Given the description of an element on the screen output the (x, y) to click on. 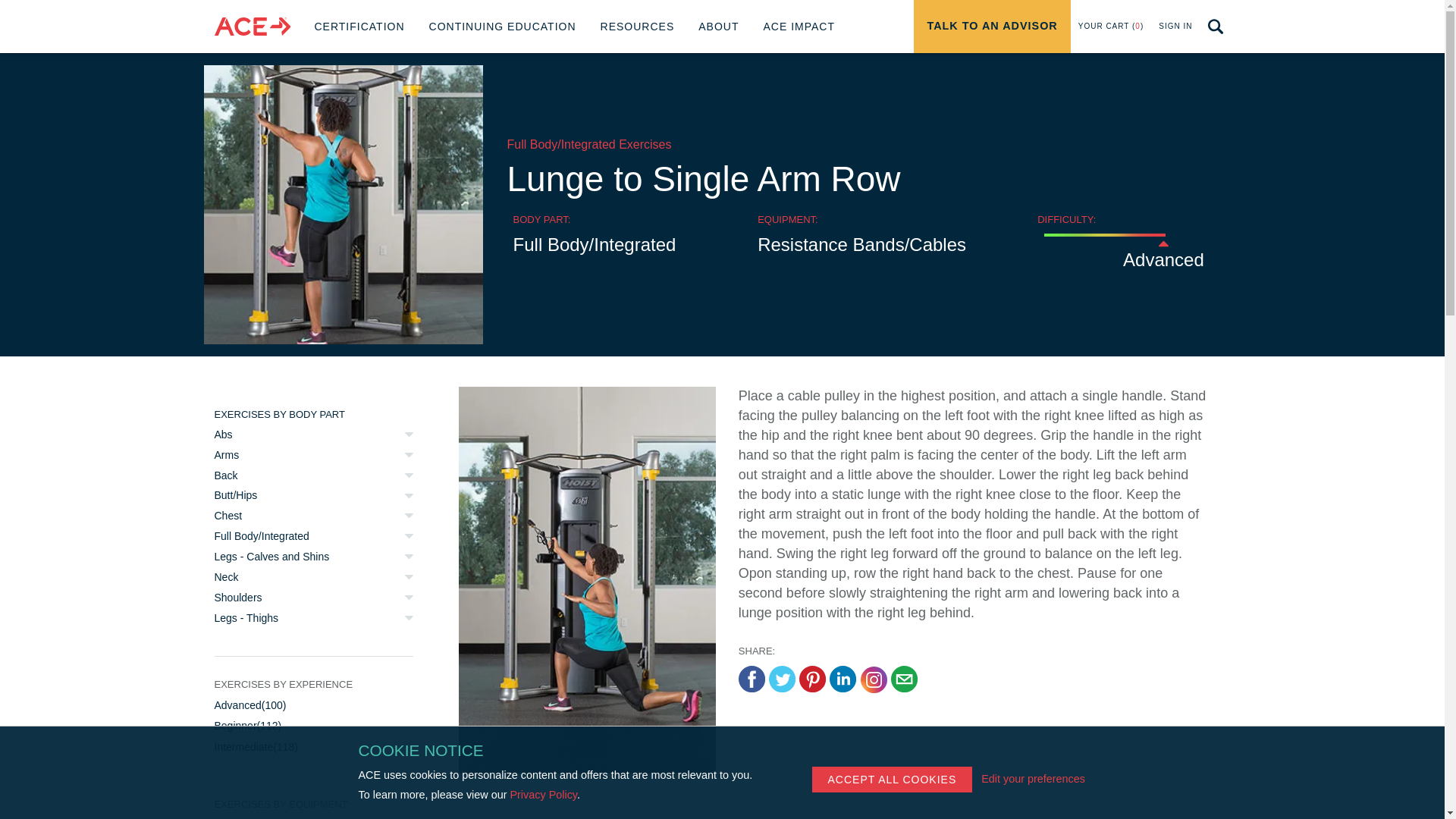
RESOURCES (637, 26)
CERTIFICATION (359, 26)
ACE Fitness (251, 26)
ABOUT (718, 26)
SIGN IN (992, 26)
